Given the description of an element on the screen output the (x, y) to click on. 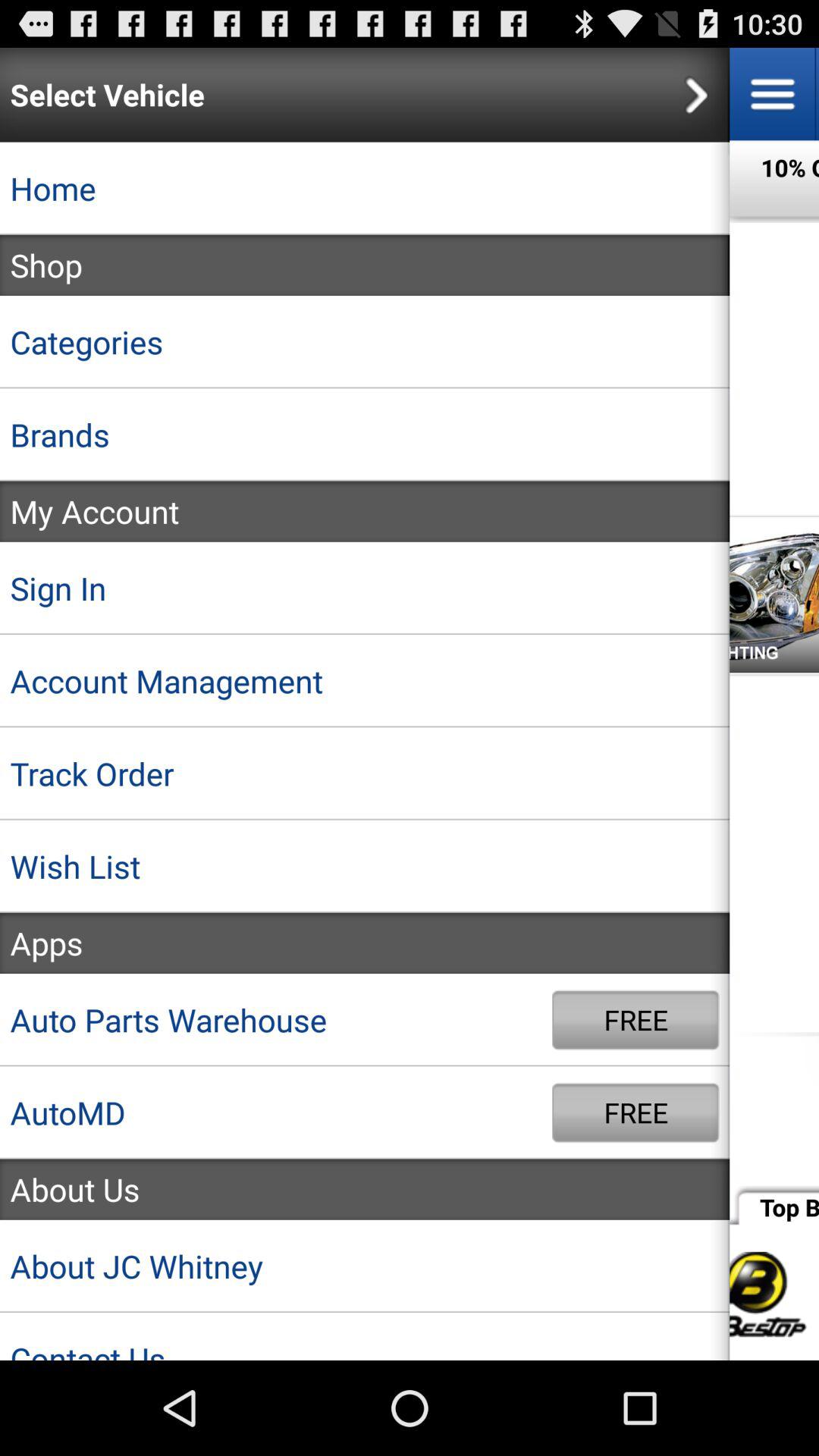
turn off the icon above track order icon (364, 680)
